Given the description of an element on the screen output the (x, y) to click on. 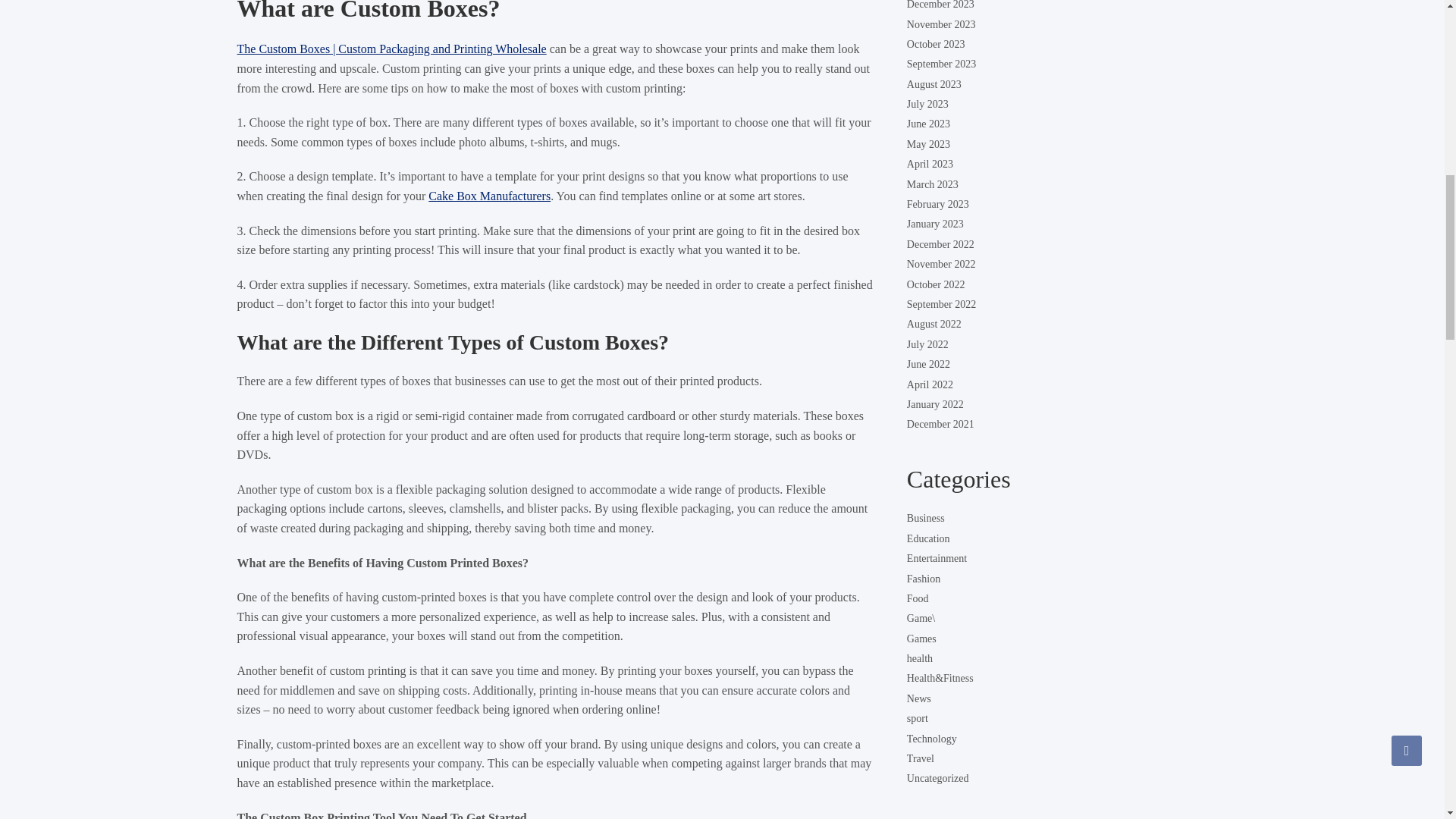
Cake Box Manufacturers (489, 195)
